Given the description of an element on the screen output the (x, y) to click on. 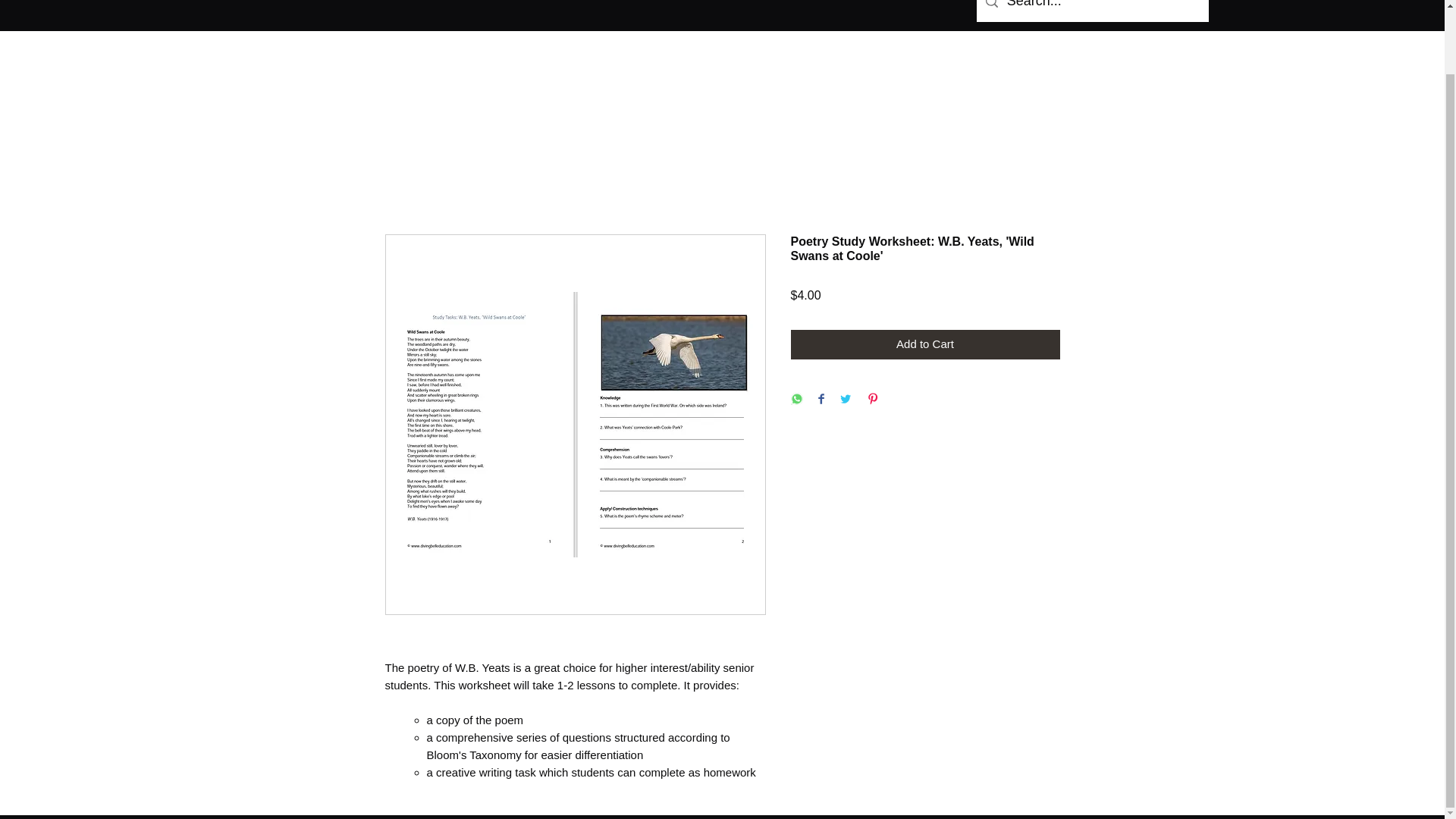
Add to Cart (924, 344)
